Given the description of an element on the screen output the (x, y) to click on. 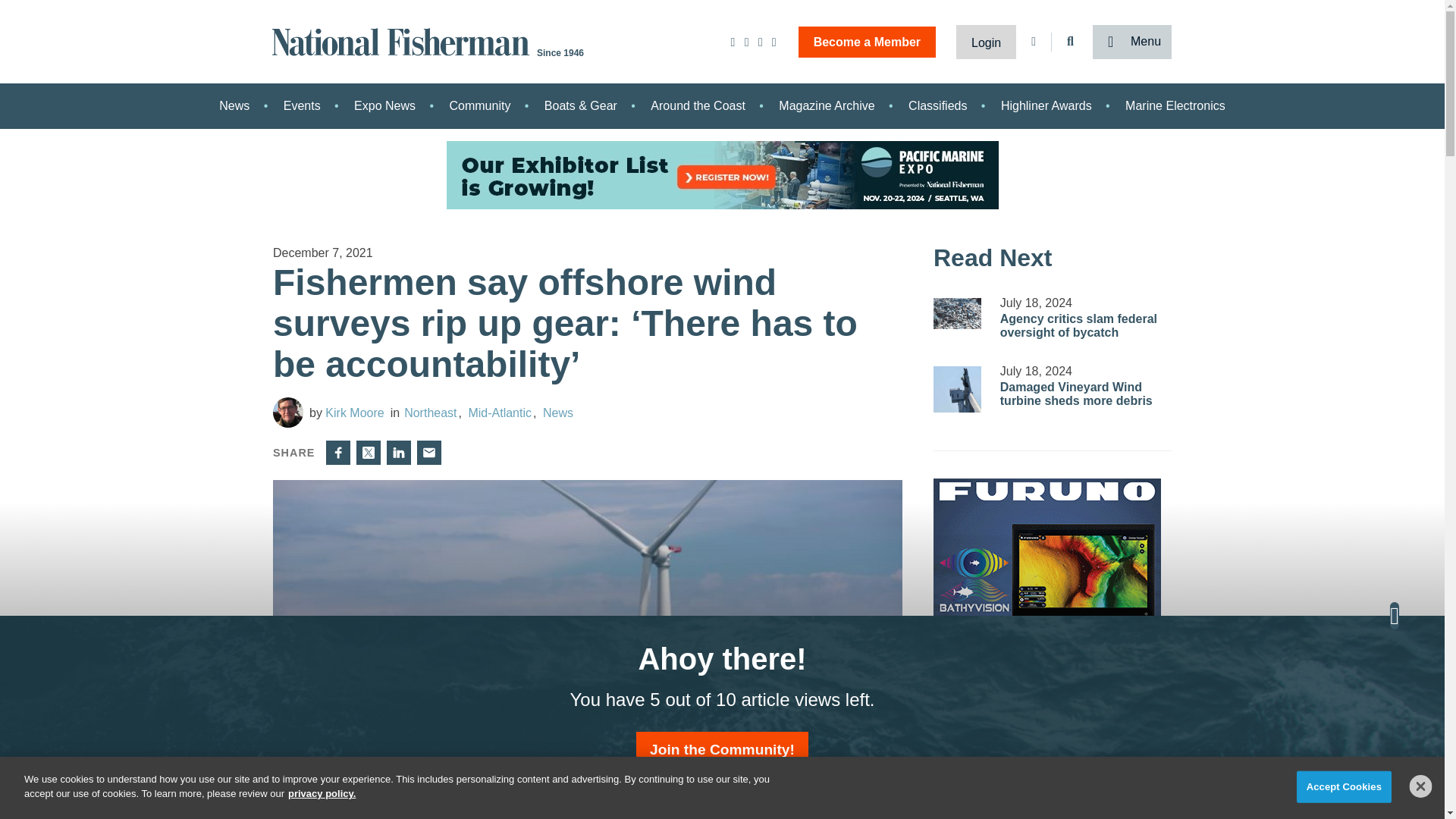
Become a Member (866, 41)
Login (986, 41)
Kirk Moore (287, 412)
National Fisherman (403, 40)
Kirk Moore (346, 413)
